Given the description of an element on the screen output the (x, y) to click on. 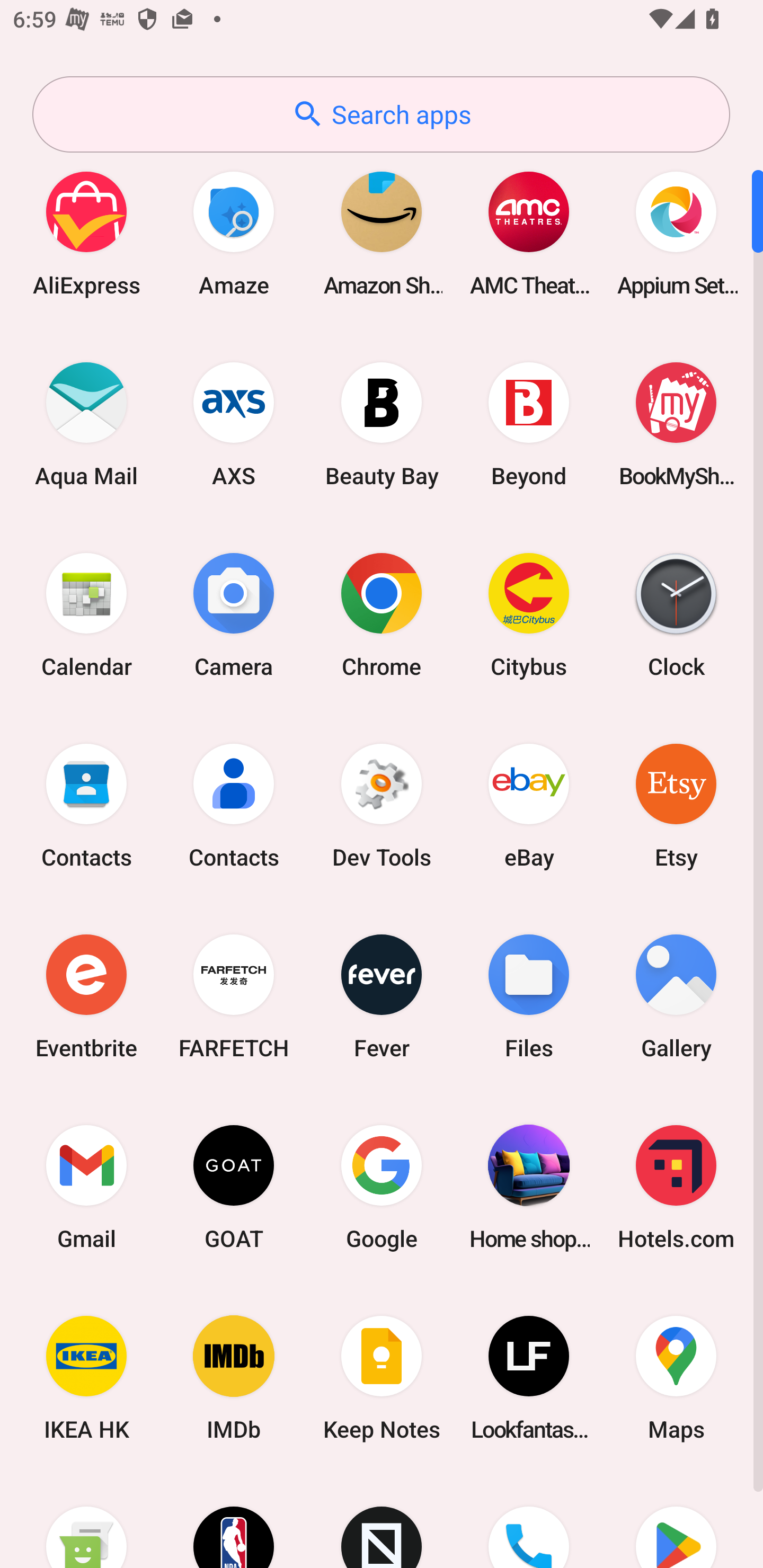
  Search apps (381, 114)
AliExpress (86, 233)
Amaze (233, 233)
Amazon Shopping (381, 233)
AMC Theatres (528, 233)
Appium Settings (676, 233)
Aqua Mail (86, 424)
AXS (233, 424)
Beauty Bay (381, 424)
Beyond (528, 424)
BookMyShow (676, 424)
Calendar (86, 614)
Camera (233, 614)
Chrome (381, 614)
Citybus (528, 614)
Clock (676, 614)
Contacts (86, 805)
Contacts (233, 805)
Dev Tools (381, 805)
eBay (528, 805)
Etsy (676, 805)
Eventbrite (86, 996)
FARFETCH (233, 996)
Fever (381, 996)
Files (528, 996)
Gallery (676, 996)
Gmail (86, 1186)
GOAT (233, 1186)
Google (381, 1186)
Home shopping (528, 1186)
Hotels.com (676, 1186)
IKEA HK (86, 1377)
IMDb (233, 1377)
Keep Notes (381, 1377)
Lookfantastic (528, 1377)
Maps (676, 1377)
Messaging (86, 1520)
NBA (233, 1520)
Novelship (381, 1520)
Phone (528, 1520)
Play Store (676, 1520)
